Given the description of an element on the screen output the (x, y) to click on. 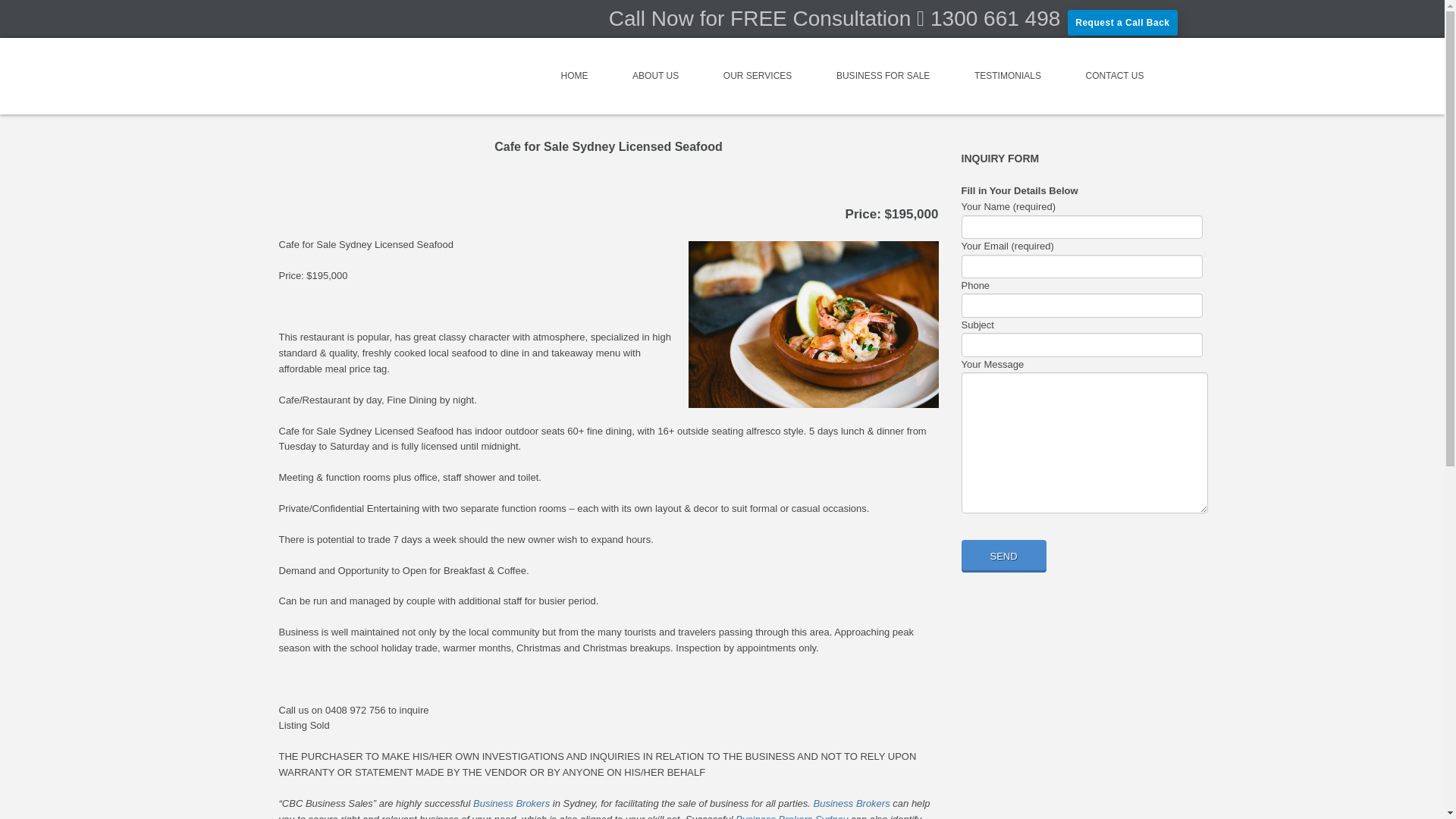
Send (1003, 555)
TESTIMONIALS (1008, 75)
OUR SERVICES (756, 75)
CONTACT US (1114, 75)
BUSINESS FOR SALE (882, 75)
Business Brokers (511, 803)
Business Brokers (851, 803)
Send (1003, 555)
Business Brokers Sydney (791, 816)
Request a Call Back (1121, 22)
